Given the description of an element on the screen output the (x, y) to click on. 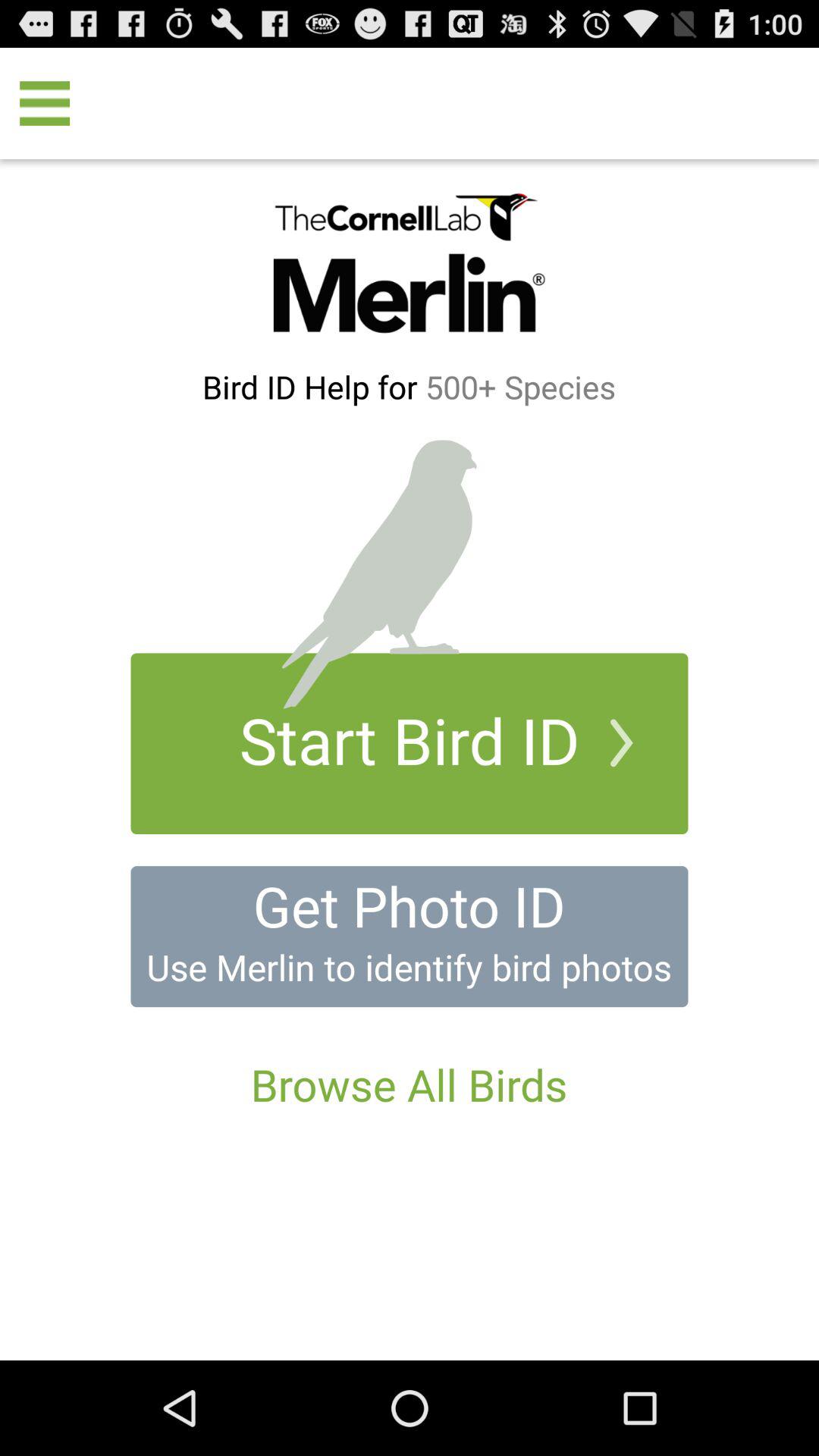
flip to the use merlin to (408, 966)
